Given the description of an element on the screen output the (x, y) to click on. 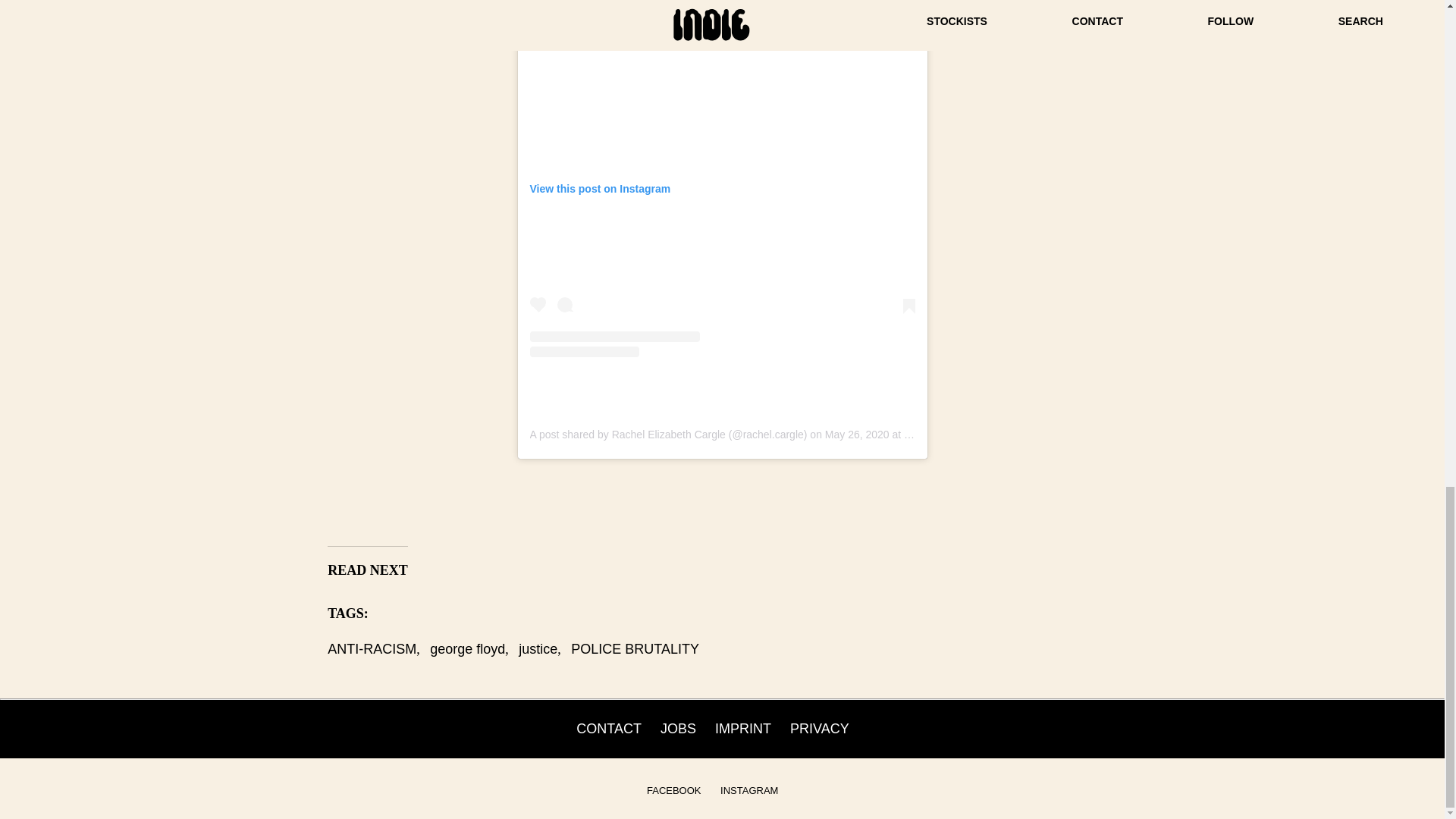
justice (537, 648)
FACEBOOK (673, 790)
POLICE BRUTALITY (634, 648)
INSTAGRAM (748, 790)
george floyd (467, 648)
CONTACT (609, 728)
PRIVACY (819, 728)
JOBS (678, 728)
IMPRINT (742, 728)
ANTI-RACISM (371, 648)
